Given the description of an element on the screen output the (x, y) to click on. 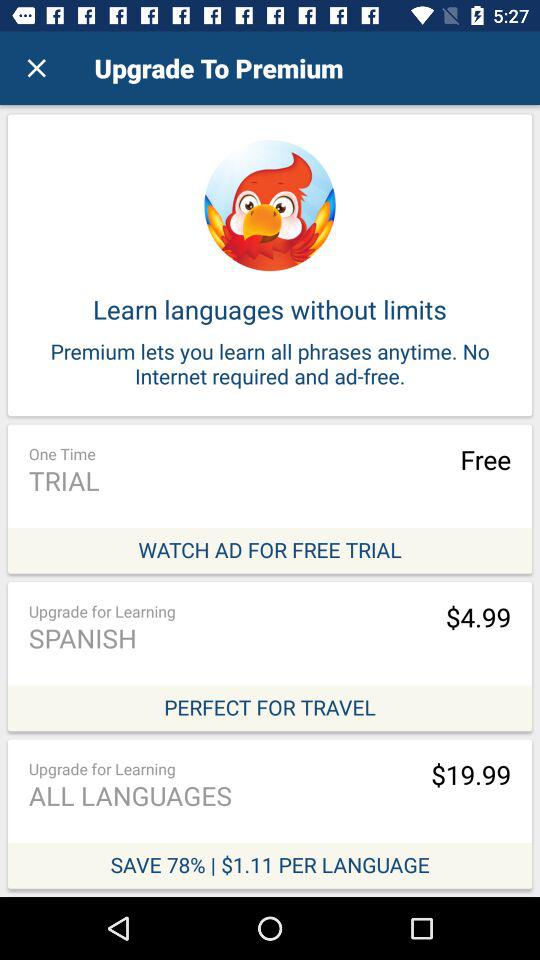
press item at the top left corner (36, 68)
